Given the description of an element on the screen output the (x, y) to click on. 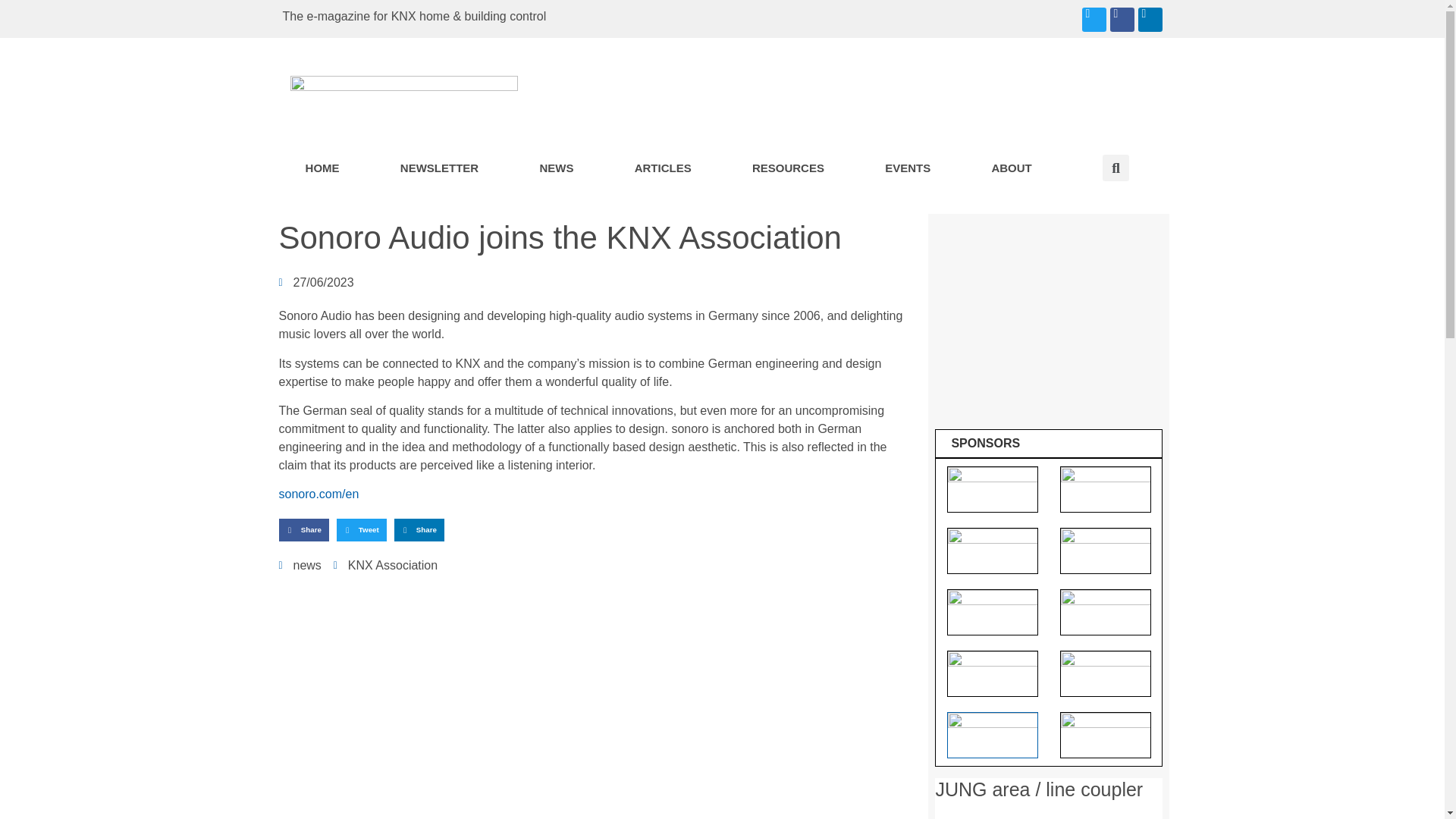
ARTICLES (663, 167)
NEWSLETTER (439, 167)
NEWS (556, 167)
news (306, 564)
KNX Association (392, 564)
EVENTS (907, 167)
HOME (322, 167)
RESOURCES (788, 167)
ABOUT (1011, 167)
